Given the description of an element on the screen output the (x, y) to click on. 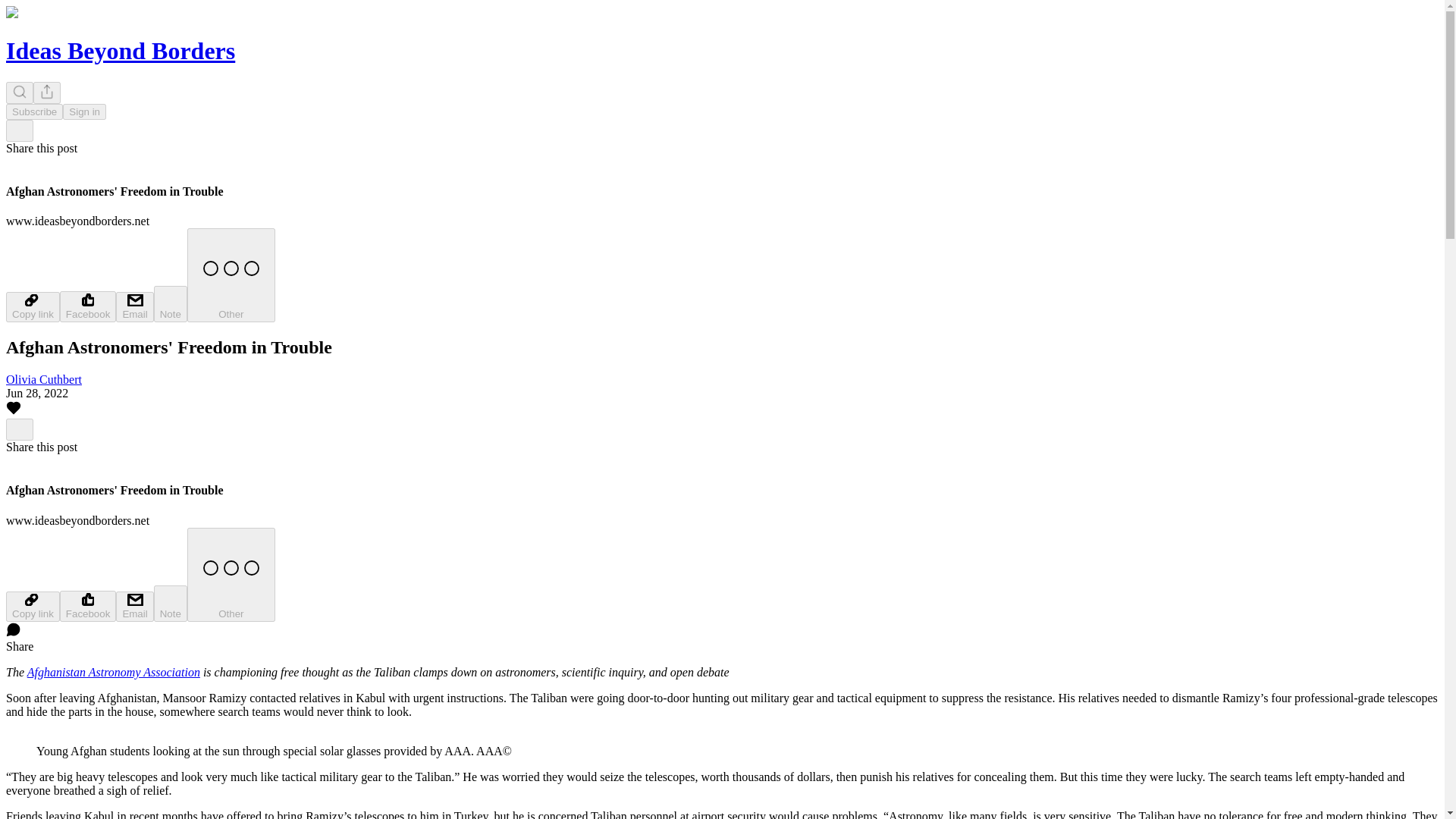
Copy link (32, 306)
Subscribe (33, 111)
Ideas Beyond Borders (119, 50)
Note (170, 603)
Note (170, 303)
Afghanistan Astronomy Association (113, 671)
Facebook (87, 306)
Other (231, 275)
Email (134, 306)
Email (134, 606)
